Given the description of an element on the screen output the (x, y) to click on. 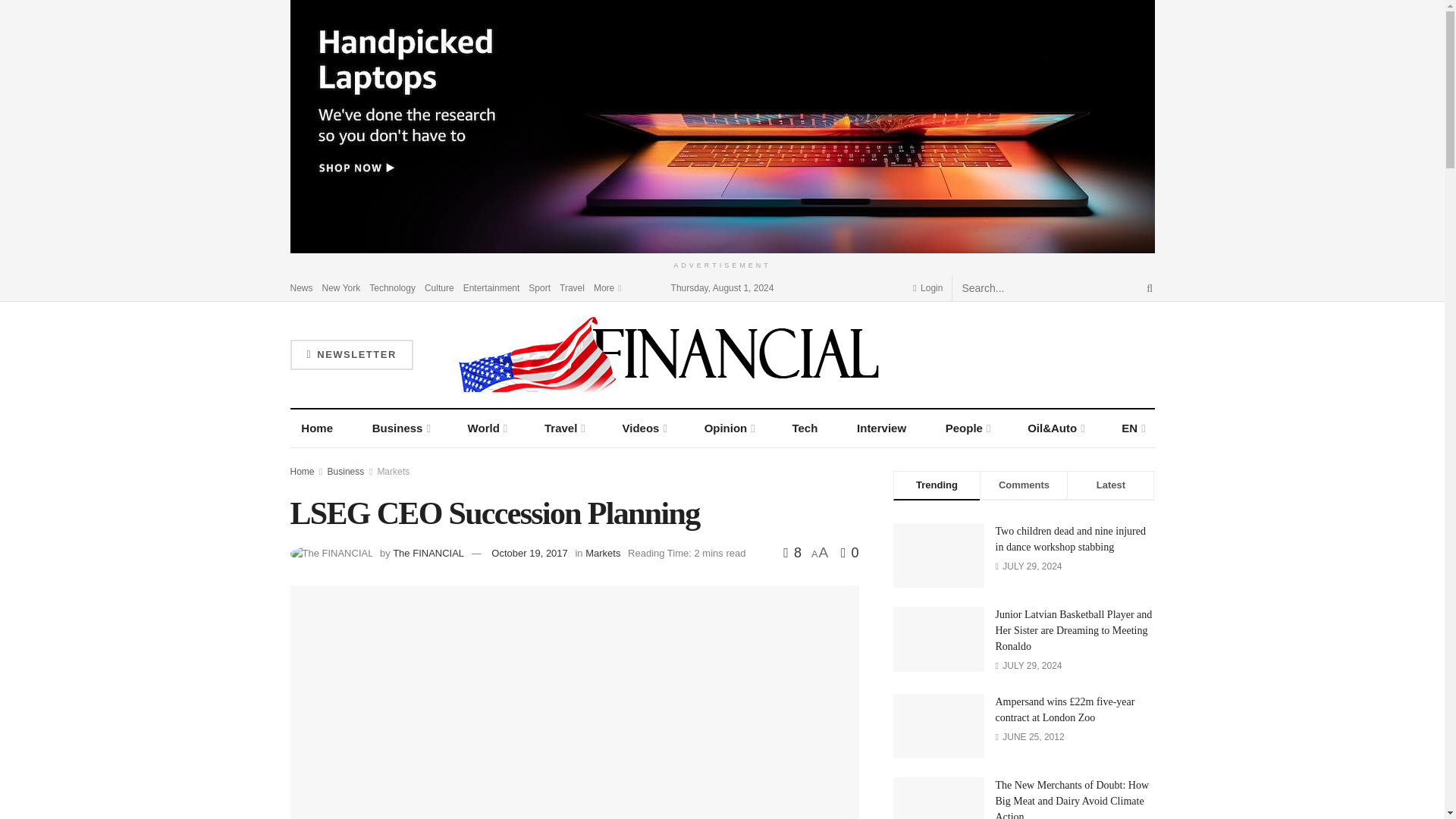
Entertainment (491, 287)
Travel (572, 287)
New York (341, 287)
Home (316, 428)
Culture (439, 287)
World (486, 428)
Login (927, 287)
Business (400, 428)
More (607, 287)
Technology (391, 287)
NEWSLETTER (350, 354)
